Given the description of an element on the screen output the (x, y) to click on. 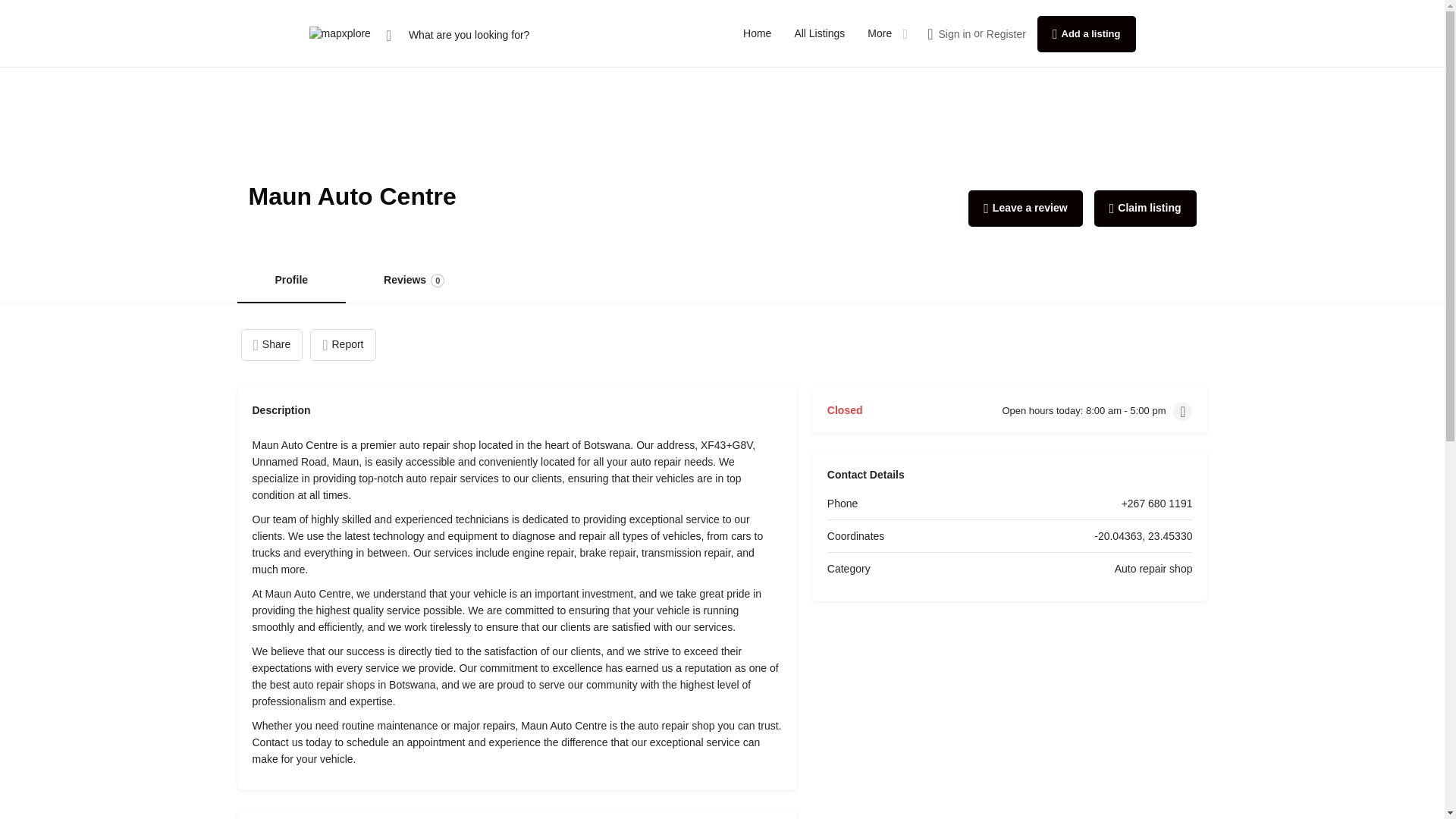
Leave a review (1024, 208)
All Listings (818, 32)
Sign in (955, 33)
Share (413, 280)
Report (271, 345)
Home (342, 345)
Claim listing (756, 32)
More (1145, 208)
Add a listing (879, 32)
